Given the description of an element on the screen output the (x, y) to click on. 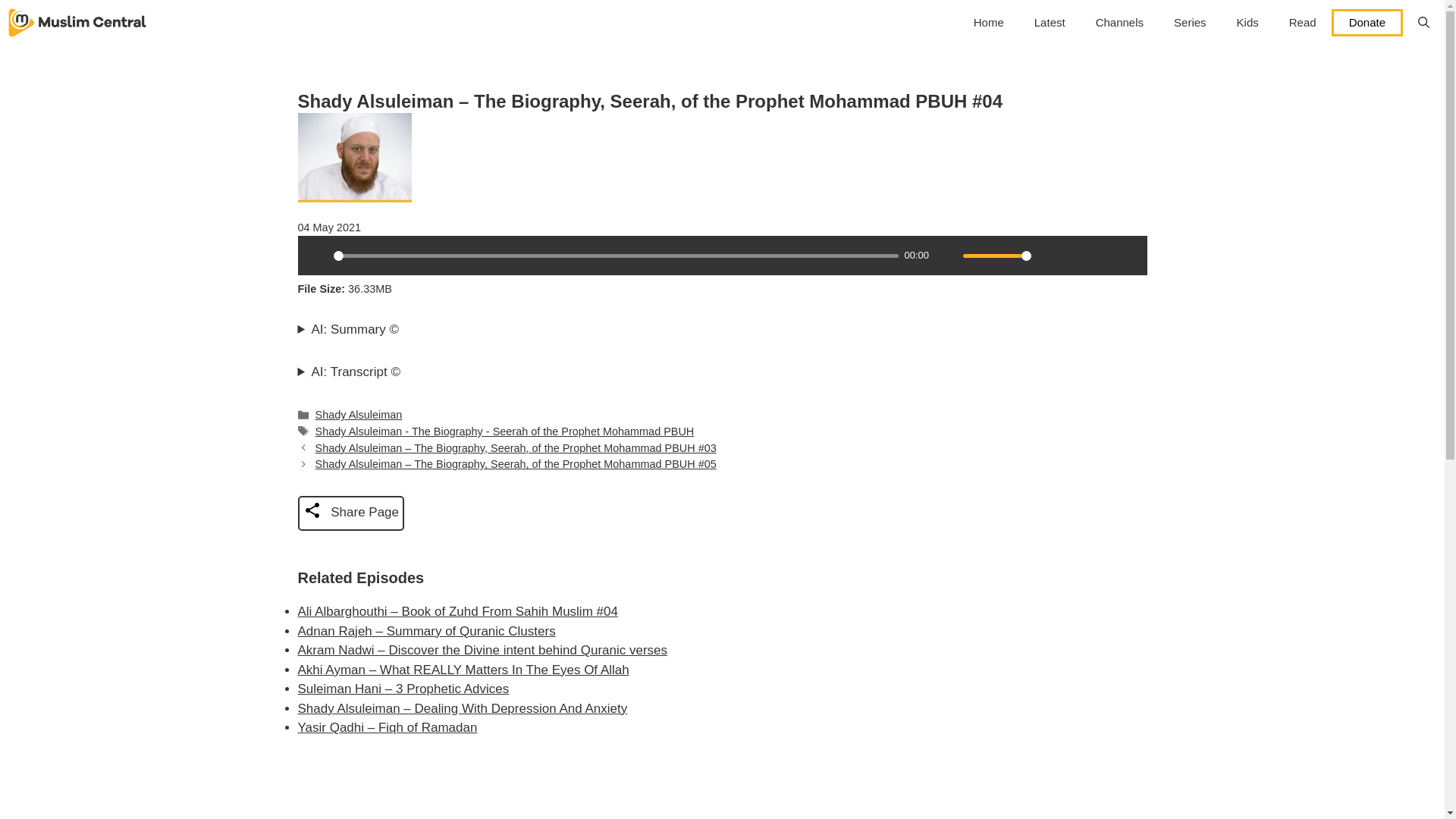
Muslim Central (77, 22)
Latest (1049, 22)
Shady Alsuleiman (359, 414)
0 (615, 255)
Read (1303, 22)
1 (996, 255)
Download (1074, 255)
Play (316, 255)
Settings (1048, 255)
Donate (1367, 22)
Series (1189, 22)
Channels (1119, 22)
Home (988, 22)
Forward 10s (1126, 255)
